Given the description of an element on the screen output the (x, y) to click on. 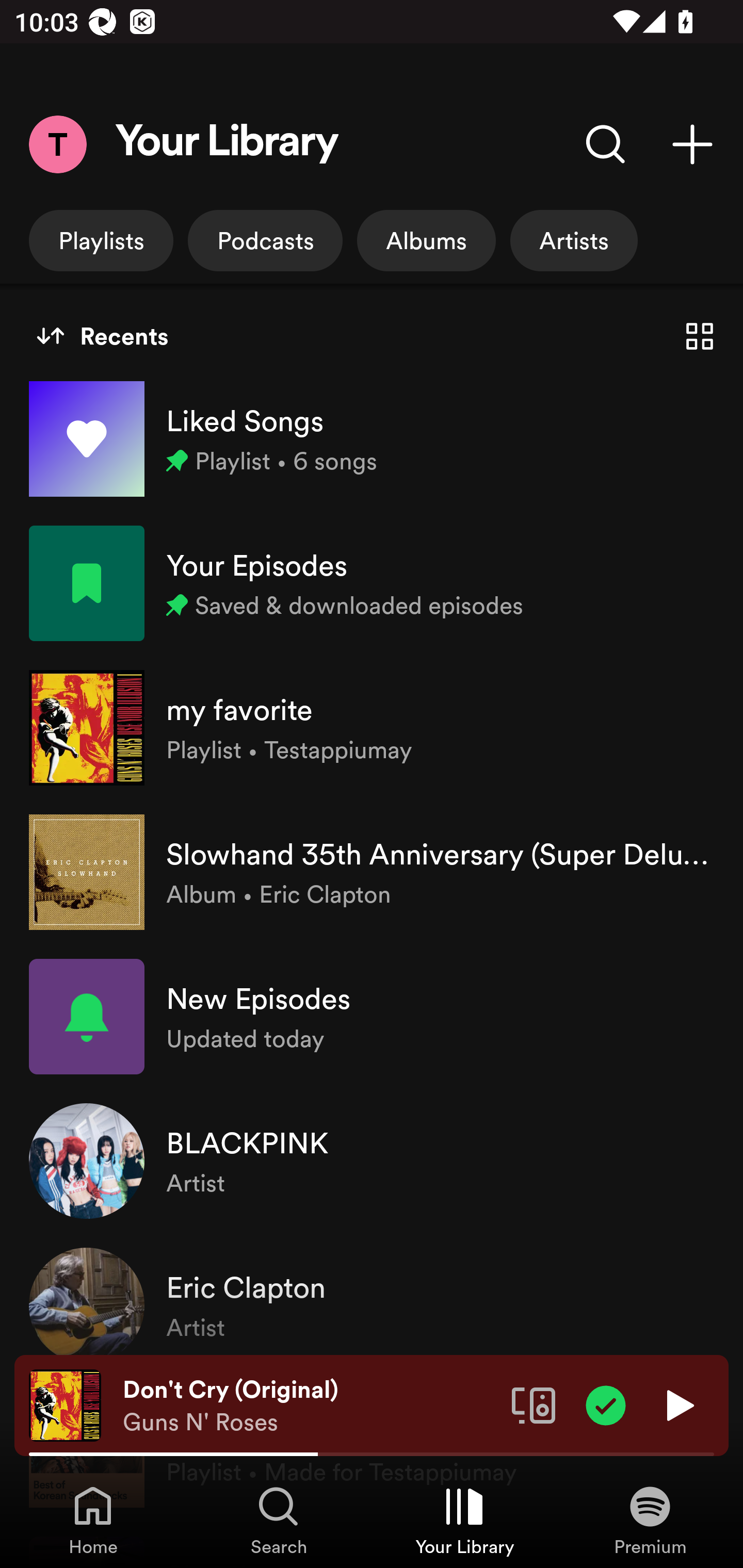
Menu (57, 144)
Search Your Library (605, 144)
Create playlist (692, 144)
Your Library Your Library Heading (226, 144)
Playlists, show only playlists. (100, 240)
Podcasts, show only podcasts. (264, 240)
Albums, show only albums. (426, 240)
Artists, show only artists. (573, 240)
Recents (101, 336)
Show Grid view (699, 336)
BLACKPINK, Artist,  BLACKPINK Artist (371, 1160)
Eric Clapton, Artist,  Eric Clapton Artist (371, 1305)
Don't Cry (Original) Guns N' Roses (309, 1405)
The cover art of the currently playing track (64, 1404)
Connect to a device. Opens the devices menu (533, 1404)
Item added (605, 1404)
Play (677, 1404)
Home, Tab 1 of 4 Home Home (92, 1519)
Search, Tab 2 of 4 Search Search (278, 1519)
Your Library, Tab 3 of 4 Your Library Your Library (464, 1519)
Premium, Tab 4 of 4 Premium Premium (650, 1519)
